Given the description of an element on the screen output the (x, y) to click on. 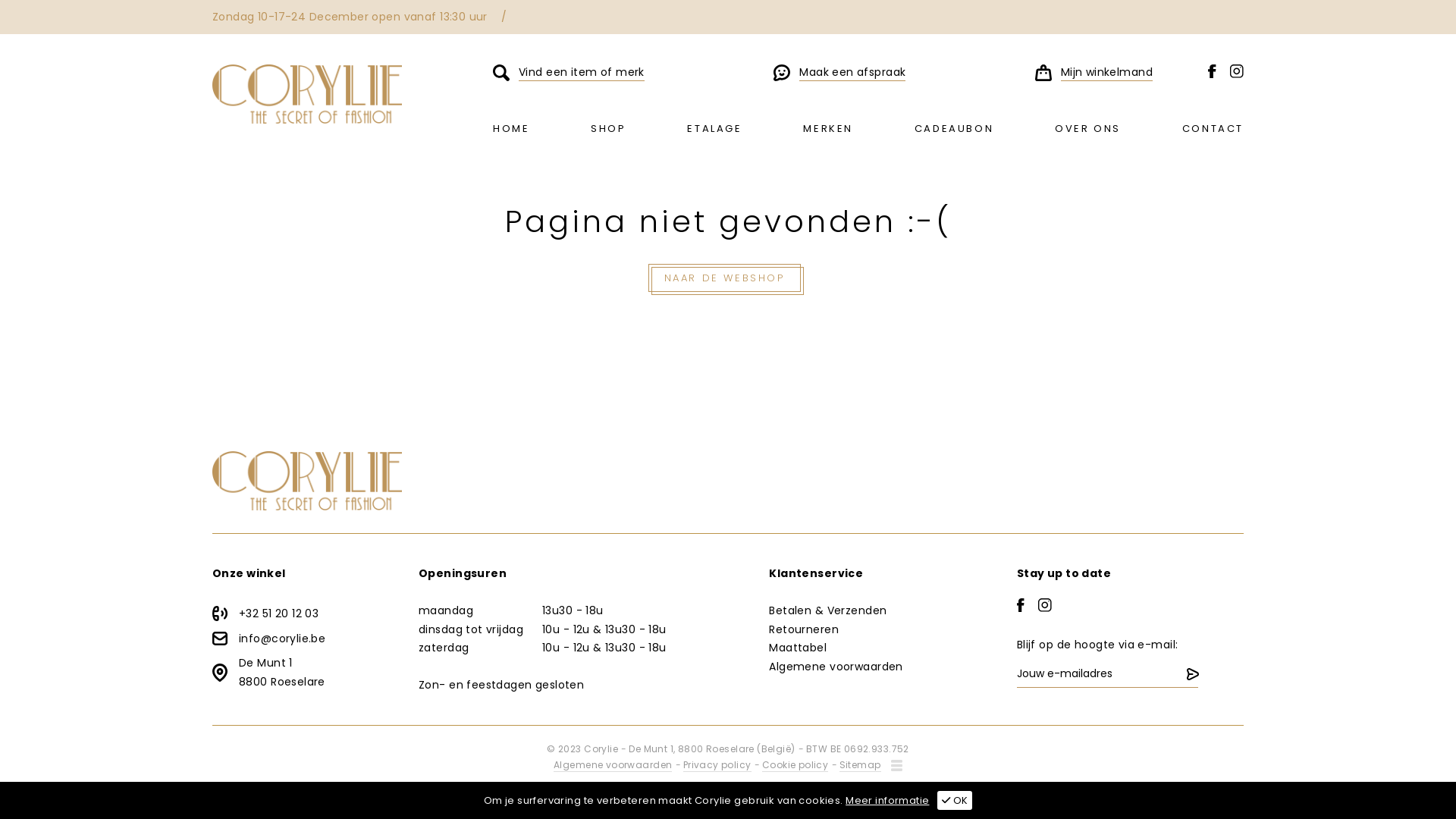
OVER ONS Element type: text (1087, 128)
Sitemap Element type: text (860, 764)
Retourneren Element type: text (803, 629)
Meer informatie Element type: text (886, 800)
Mijn winkelmand Element type: text (1093, 72)
CONTACT Element type: text (1212, 128)
Cookie policy Element type: text (795, 764)
HOME Element type: text (510, 128)
ETALAGE Element type: text (714, 128)
Maak een afspraak Element type: text (839, 72)
Privacy policy Element type: text (717, 764)
Zondag 10-17-24 December open vanaf 13:30 uur Element type: text (349, 16)
OK Element type: text (954, 799)
Maattabel Element type: text (797, 647)
Mijn winkelmand Element type: hover (1043, 72)
info@corylie.be Element type: text (305, 638)
SHOP Element type: text (607, 128)
Home Element type: hover (306, 93)
CADEAUBON Element type: text (953, 128)
+32 51 20 12 03 Element type: text (305, 613)
Algemene voorwaarden Element type: text (612, 764)
Betalen & Verzenden Element type: text (827, 610)
MERKEN Element type: text (828, 128)
De Munt 1
8800 Roeselare Element type: text (305, 671)
NAAR DE WEBSHOP Element type: text (723, 277)
Algemene voorwaarden Element type: text (835, 666)
